Given the description of an element on the screen output the (x, y) to click on. 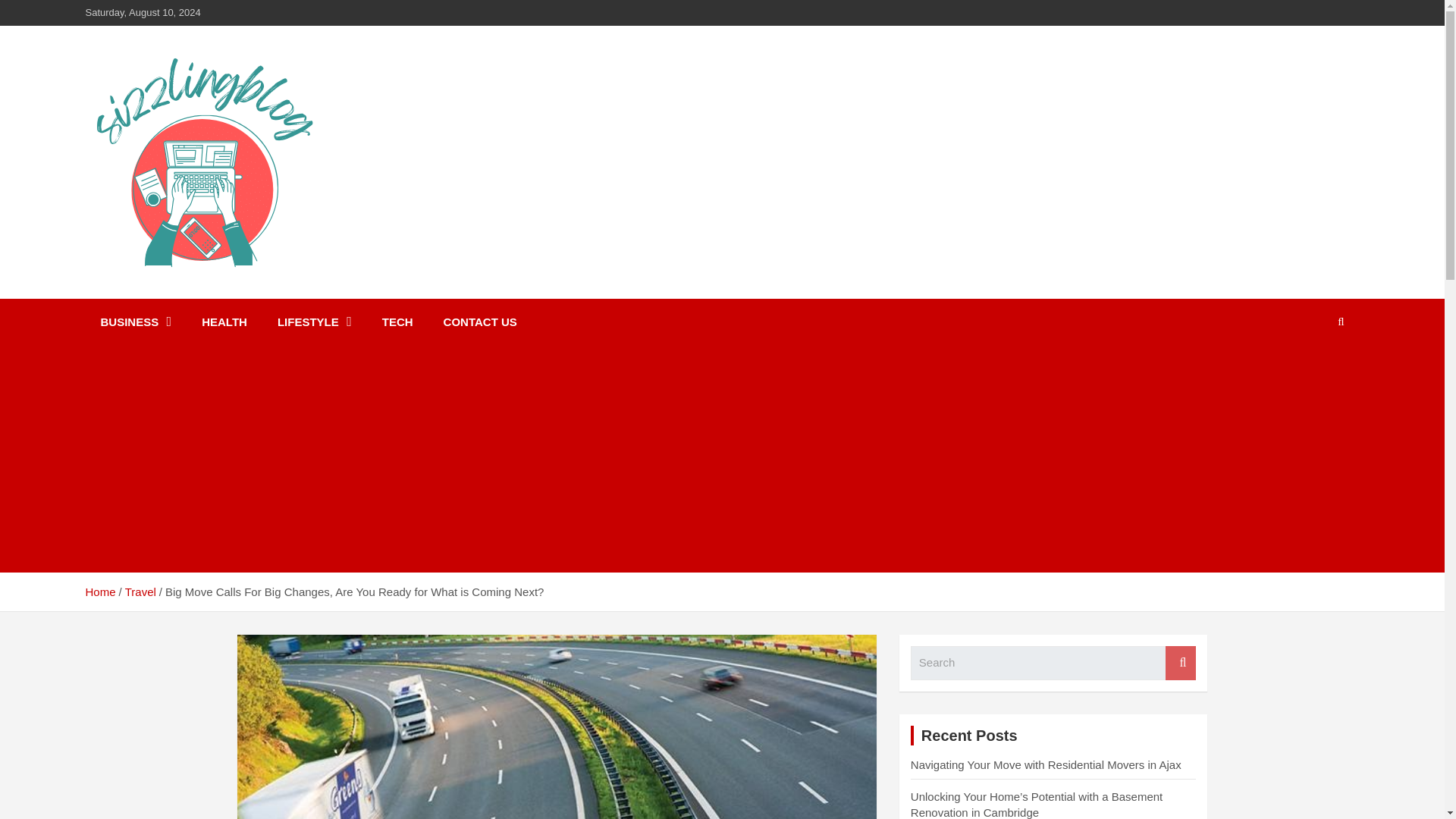
Sizzling Blog (178, 295)
HEALTH (224, 321)
Home (99, 591)
Travel (140, 591)
LIFESTYLE (314, 321)
BUSINESS (135, 321)
CONTACT US (480, 321)
Navigating Your Move with Residential Movers in Ajax (1045, 764)
TECH (397, 321)
